Given the description of an element on the screen output the (x, y) to click on. 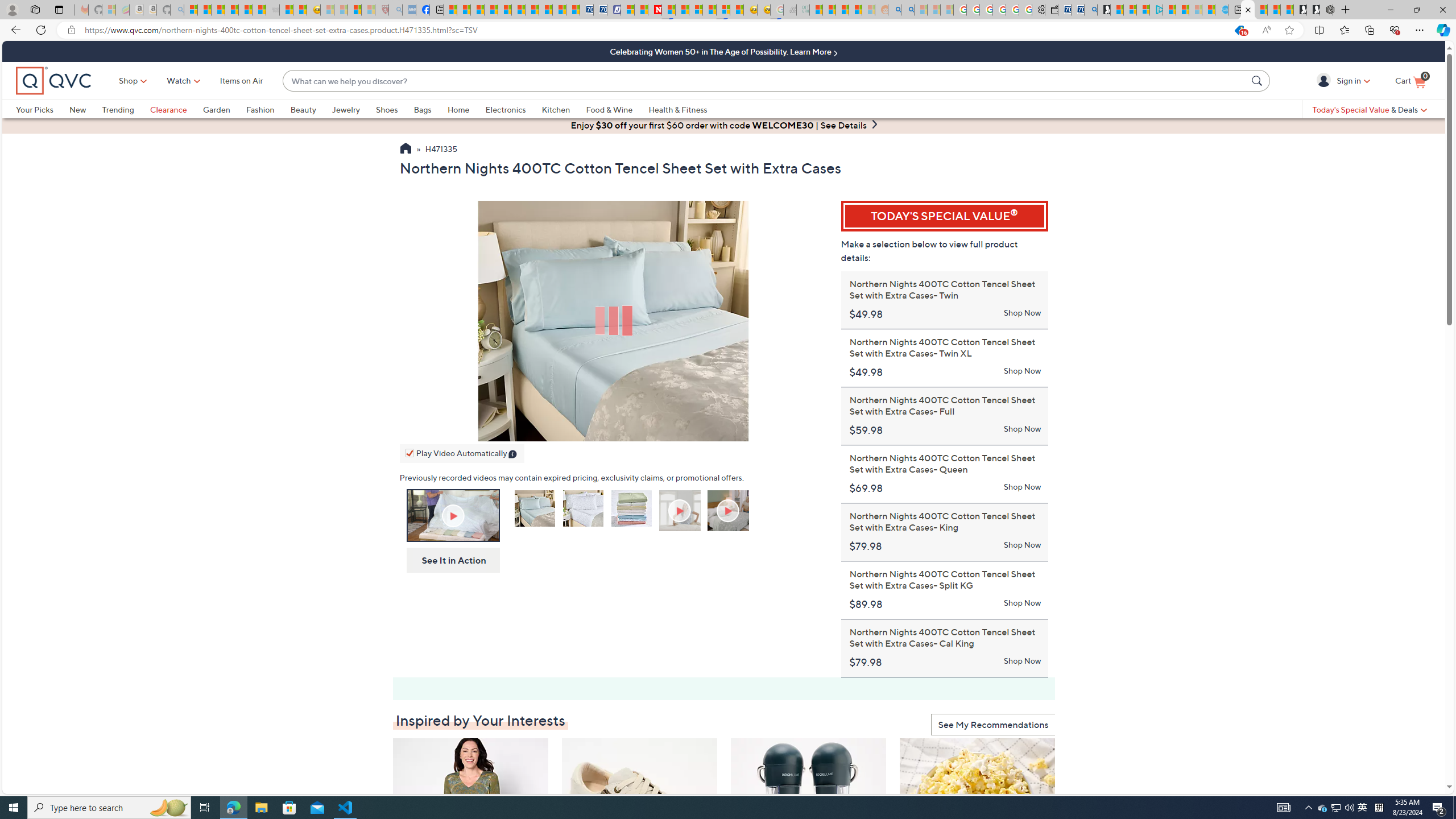
Clearance (168, 109)
14 Common Myths Debunked By Scientific Facts (682, 9)
Fashion (260, 109)
Captions (743, 430)
Shoes (386, 109)
Bing Real Estate - Home sales and rental listings (1090, 9)
Clearance (175, 109)
